Given the description of an element on the screen output the (x, y) to click on. 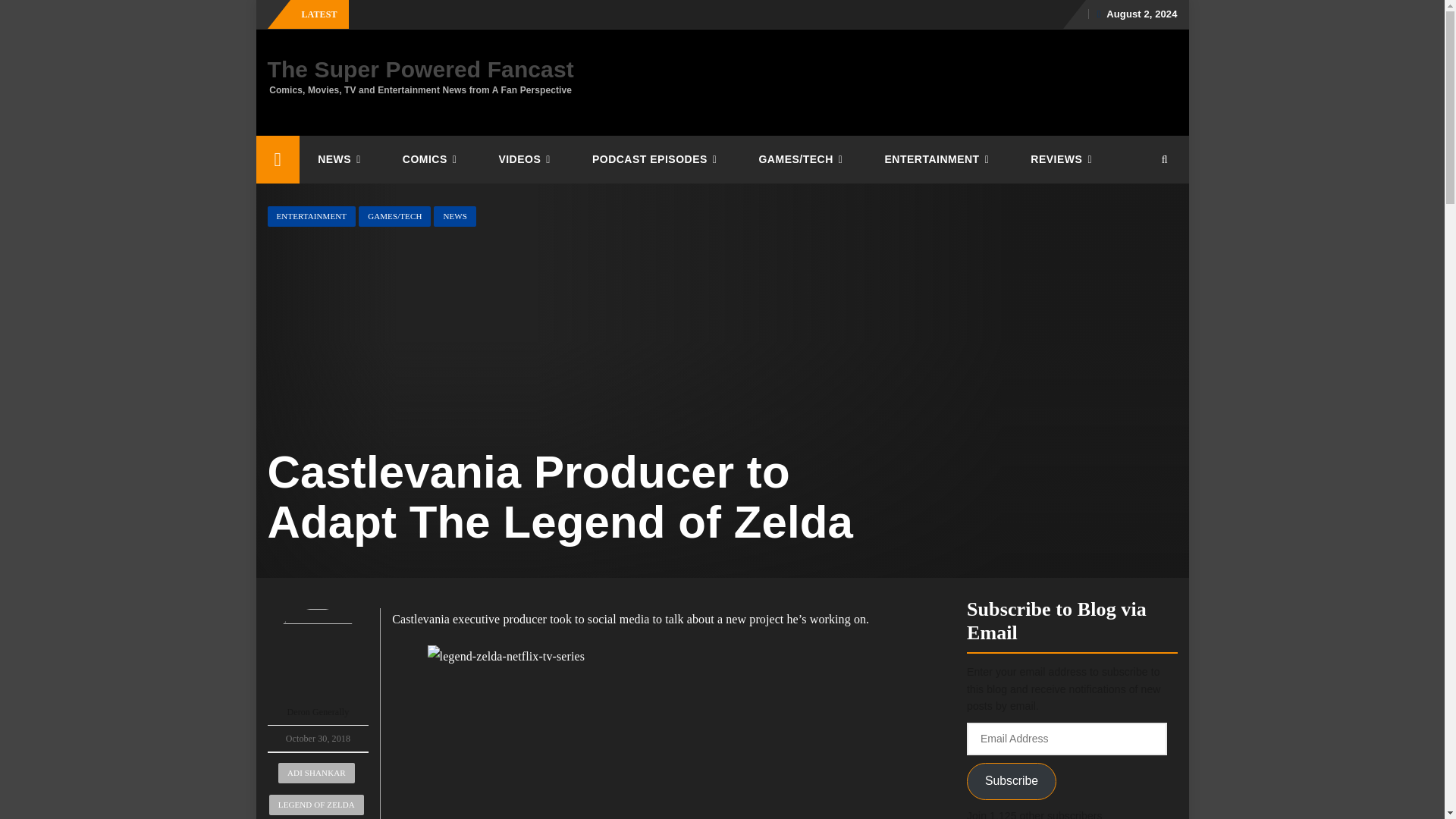
The Super Powered Fancast (419, 68)
COMICS (432, 159)
VIDEOS (526, 159)
The Super Powered Fancast (419, 68)
NEWS (341, 159)
The Super Powered Fancast (277, 159)
